Given the description of an element on the screen output the (x, y) to click on. 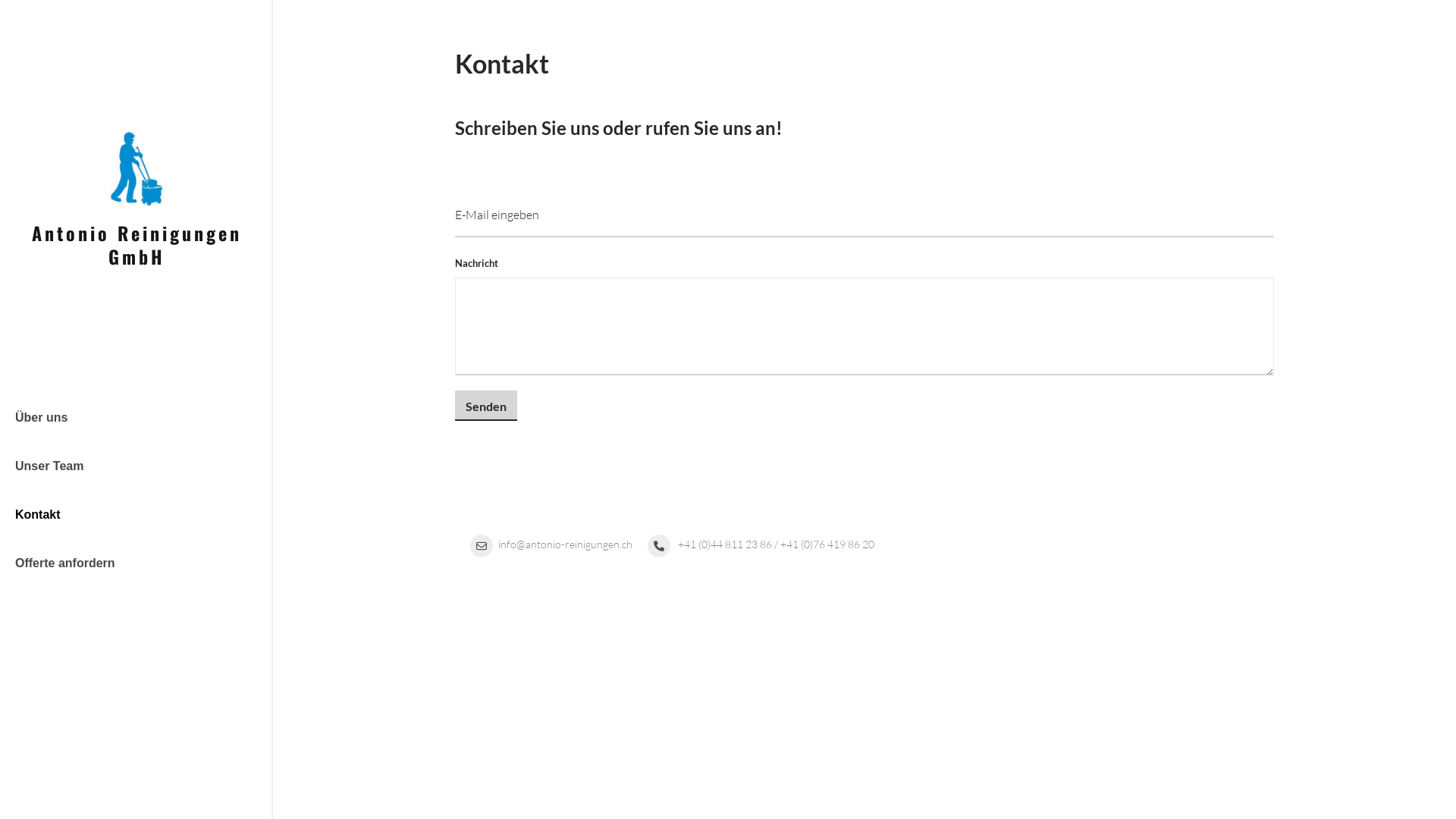
Kontakt Element type: text (136, 514)
info@antonio-reinigungen.ch Element type: text (551, 543)
Antonio Reinigungen GmbH Element type: text (136, 244)
+41 (0)44 811 23 86 / +41 (0)76 419 86 20 Element type: text (760, 543)
Senden Element type: text (486, 405)
Offerte anfordern Element type: text (136, 563)
Unser Team Element type: text (136, 466)
Antonio Reinigungen GmbH Element type: hover (136, 165)
